Given the description of an element on the screen output the (x, y) to click on. 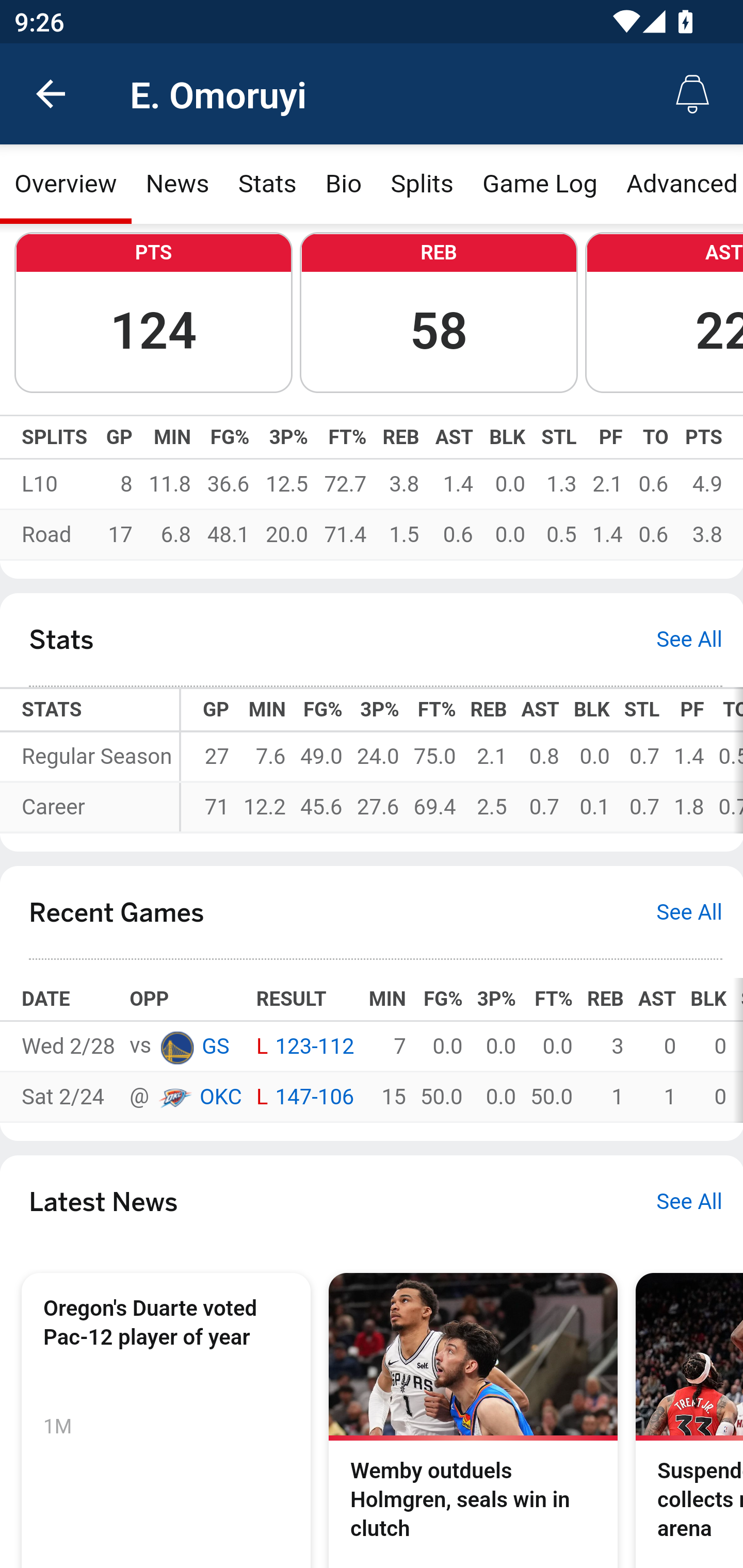
back.button (50, 93)
Alerts (692, 93)
Overview (65, 184)
News (177, 184)
Stats (267, 184)
Bio (343, 184)
Splits (422, 184)
Game Log (538, 184)
Advanced Stats (676, 184)
PTS 124 (153, 313)
REB 58 (438, 313)
AST 22 (664, 313)
See All (689, 641)
See All (689, 912)
GS (176, 1047)
L 123-112 L 123-112 (304, 1048)
GS (215, 1047)
OKC (174, 1097)
L 147-106 L 147-106 (304, 1098)
OKC (220, 1098)
See All (689, 1203)
